Given the description of an element on the screen output the (x, y) to click on. 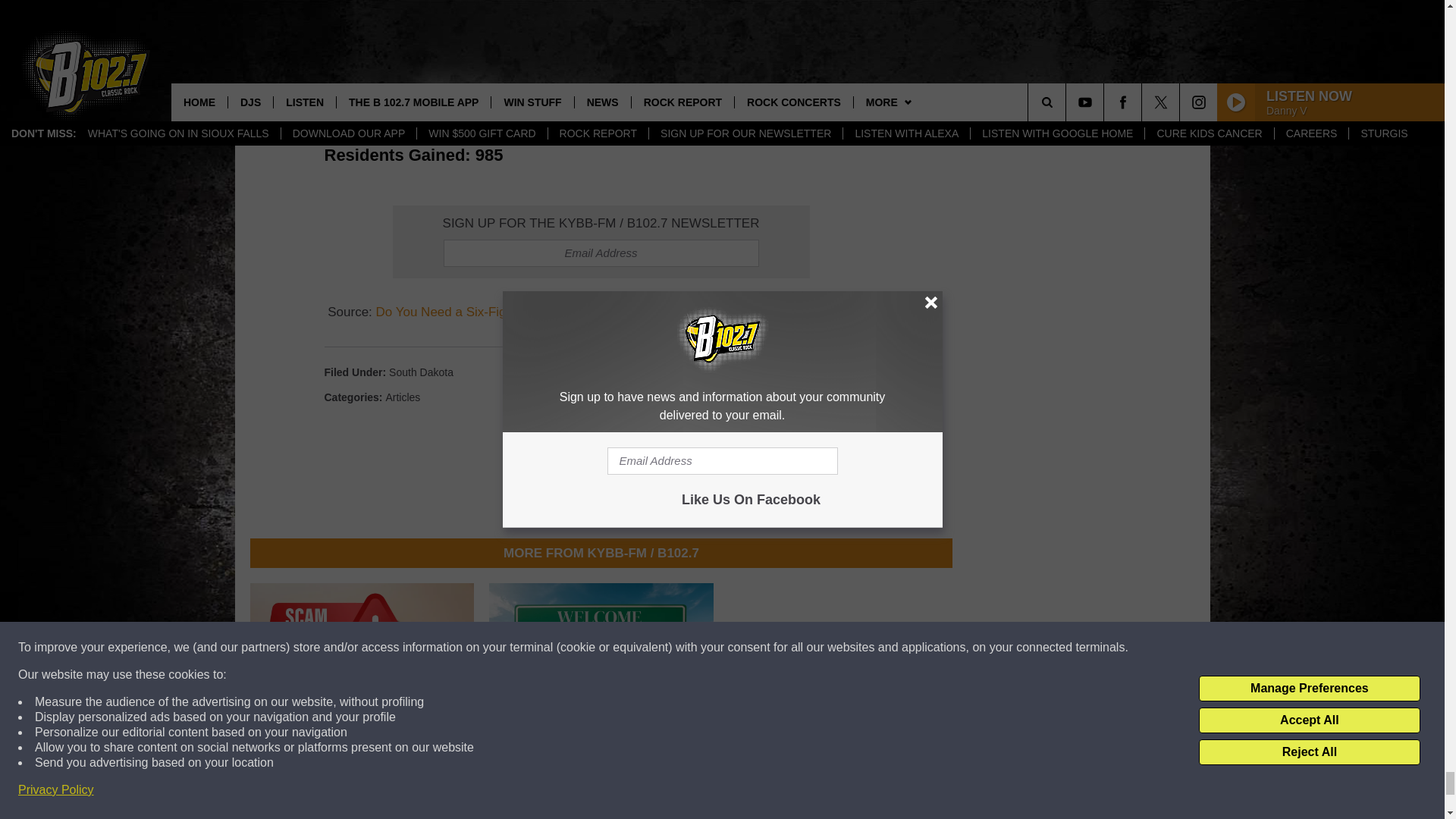
Email Address (600, 252)
